Given the description of an element on the screen output the (x, y) to click on. 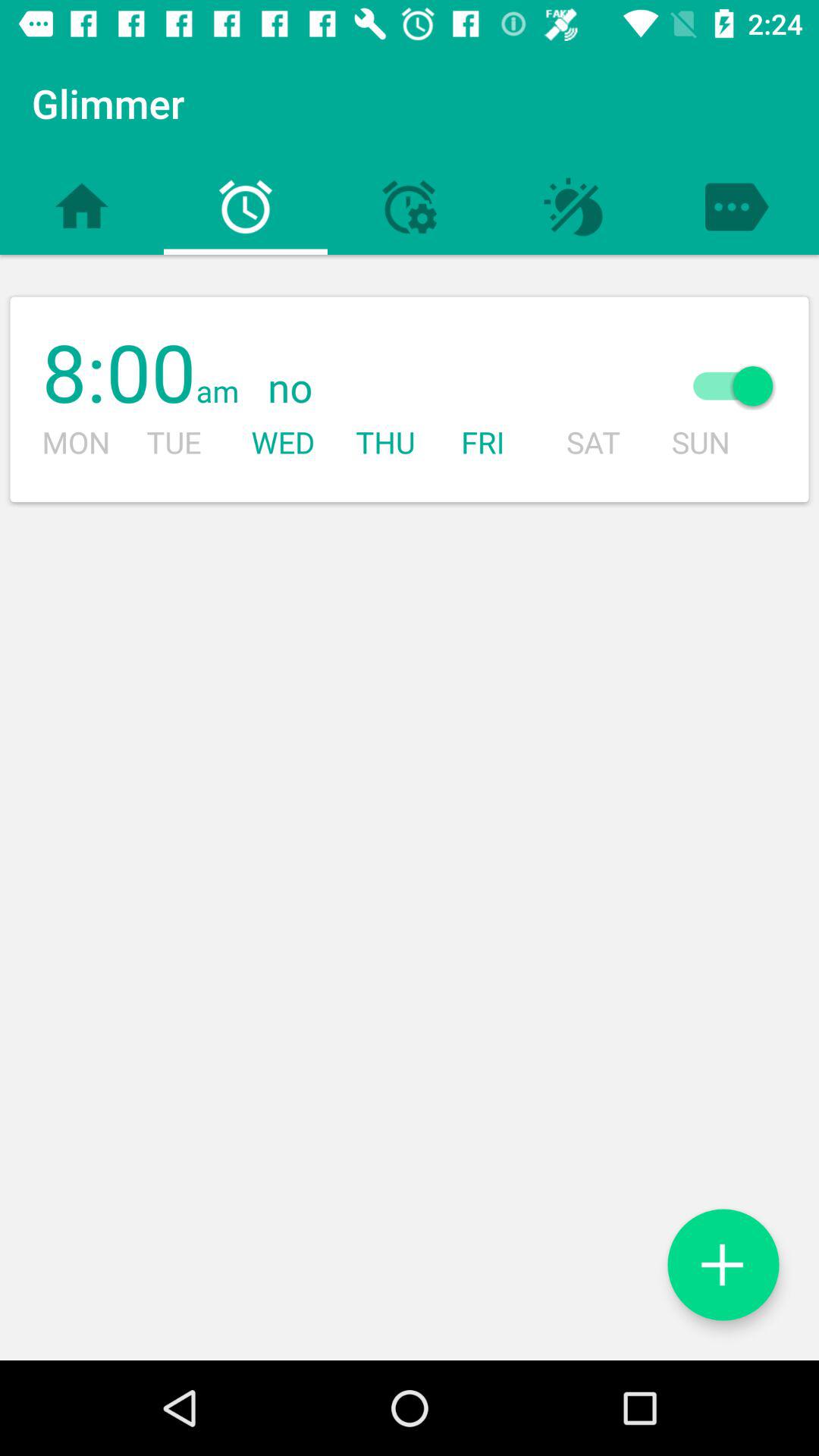
open the item below the sat item (723, 1264)
